Given the description of an element on the screen output the (x, y) to click on. 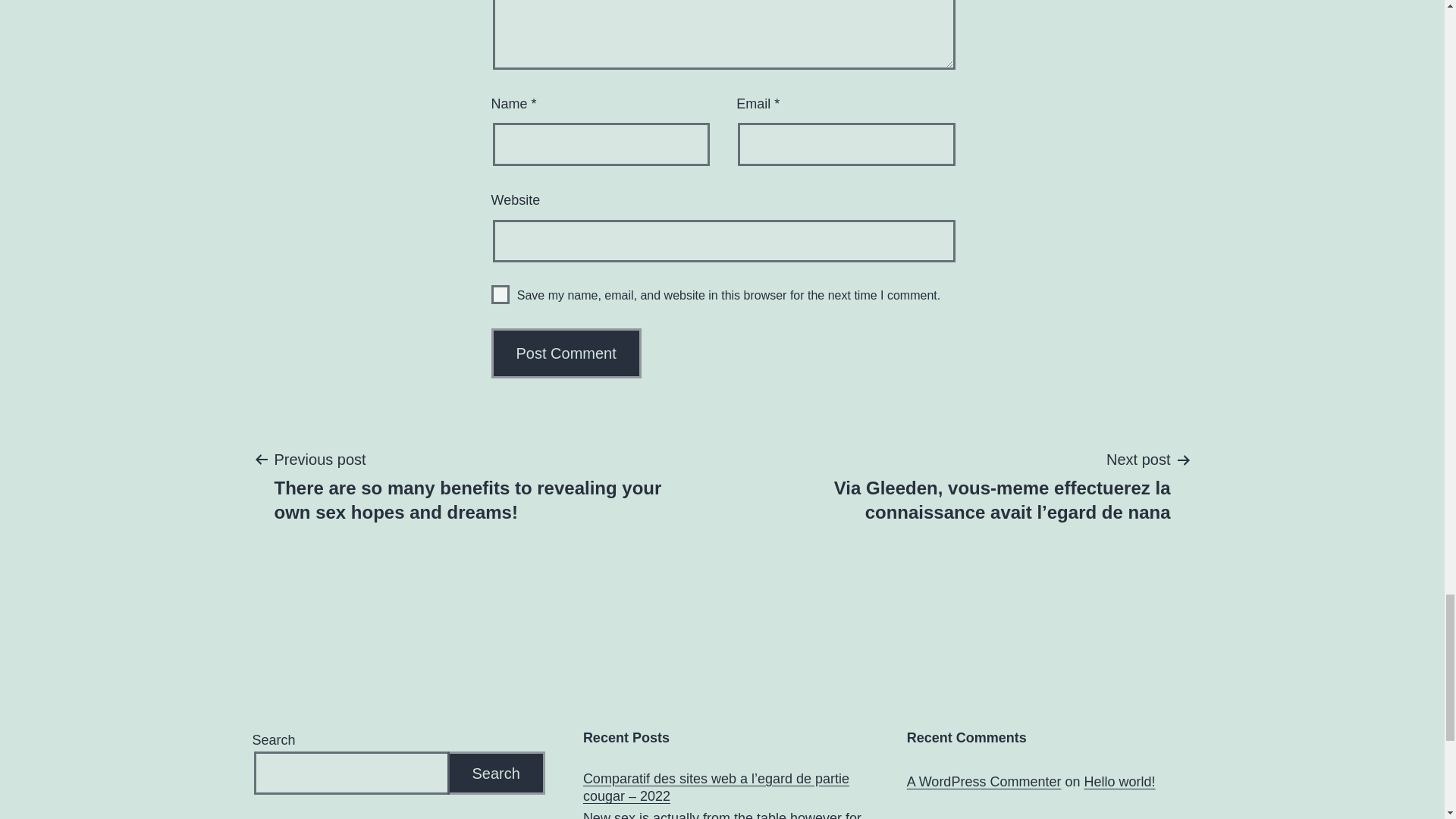
Hello world! (1118, 781)
Post Comment (567, 353)
A WordPress Commenter (984, 781)
Post Comment (567, 353)
yes (500, 294)
Search (495, 772)
